Given the description of an element on the screen output the (x, y) to click on. 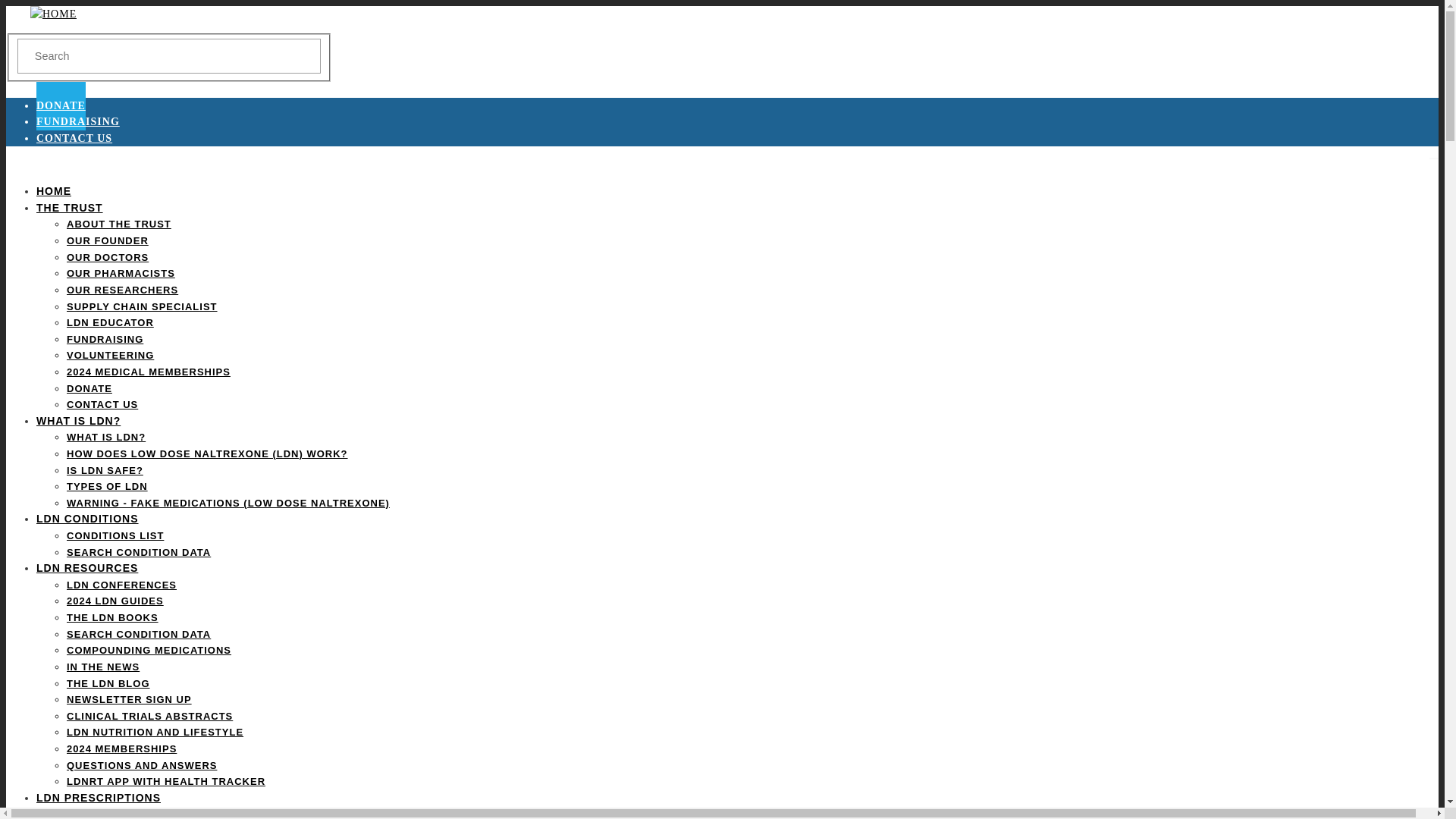
Skip to main content (722, 7)
What is LDN? (78, 420)
THE TRUST (69, 207)
Information (98, 797)
2024 LDN GUIDES (114, 600)
Our Researchers (121, 289)
WHAT IS LDN? (105, 437)
NEWSLETTER SIGN UP (129, 699)
SEARCH CONDITION DATA (138, 633)
SEARCH (41, 40)
FUNDRAISING (104, 338)
2024 MEDICAL MEMBERSHIPS (148, 371)
LDN CONDITIONS (87, 518)
WHAT IS LDN? (78, 420)
IS LDN SAFE? (104, 470)
